Given the description of an element on the screen output the (x, y) to click on. 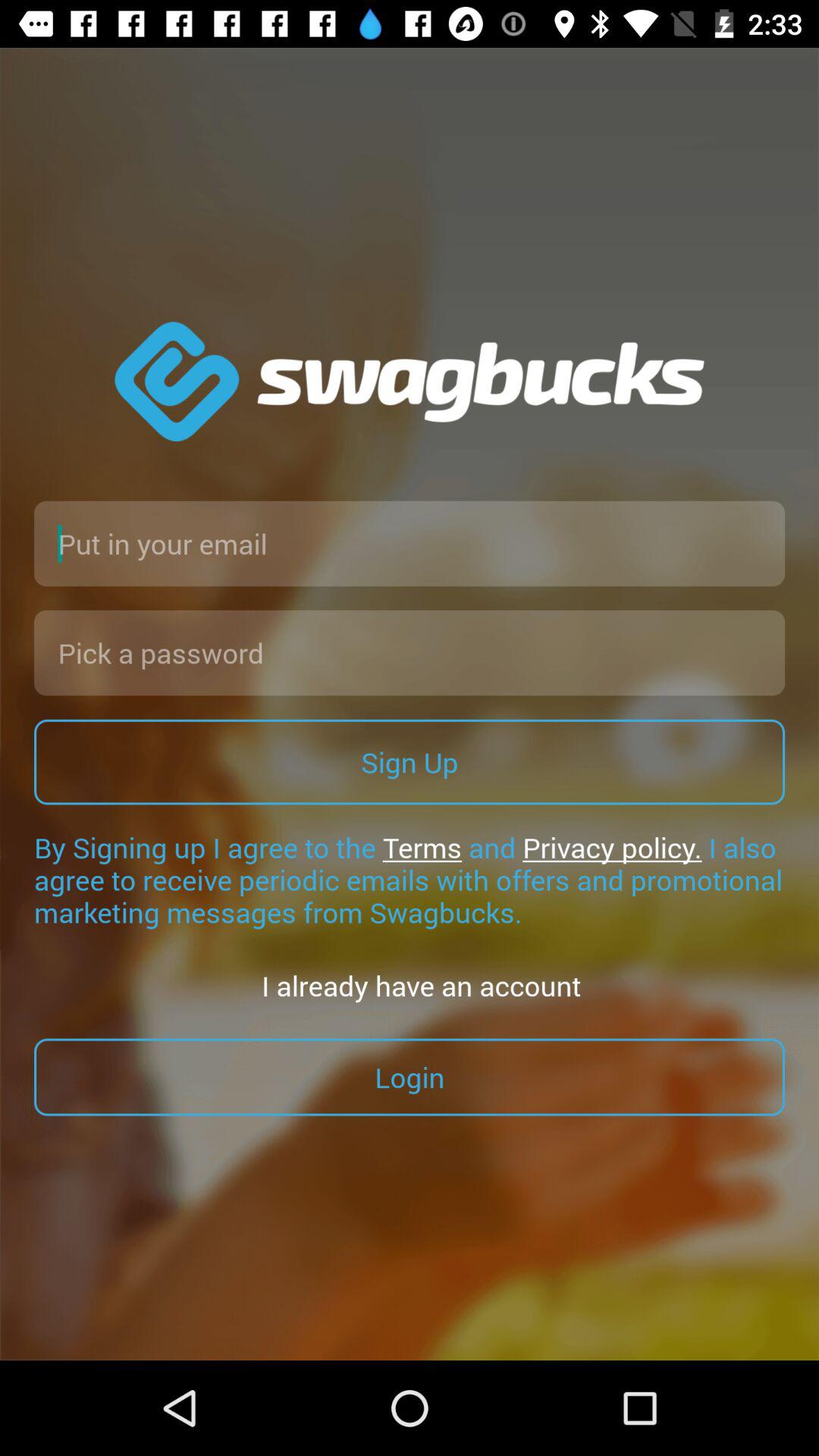
flip to the sign up item (409, 761)
